Given the description of an element on the screen output the (x, y) to click on. 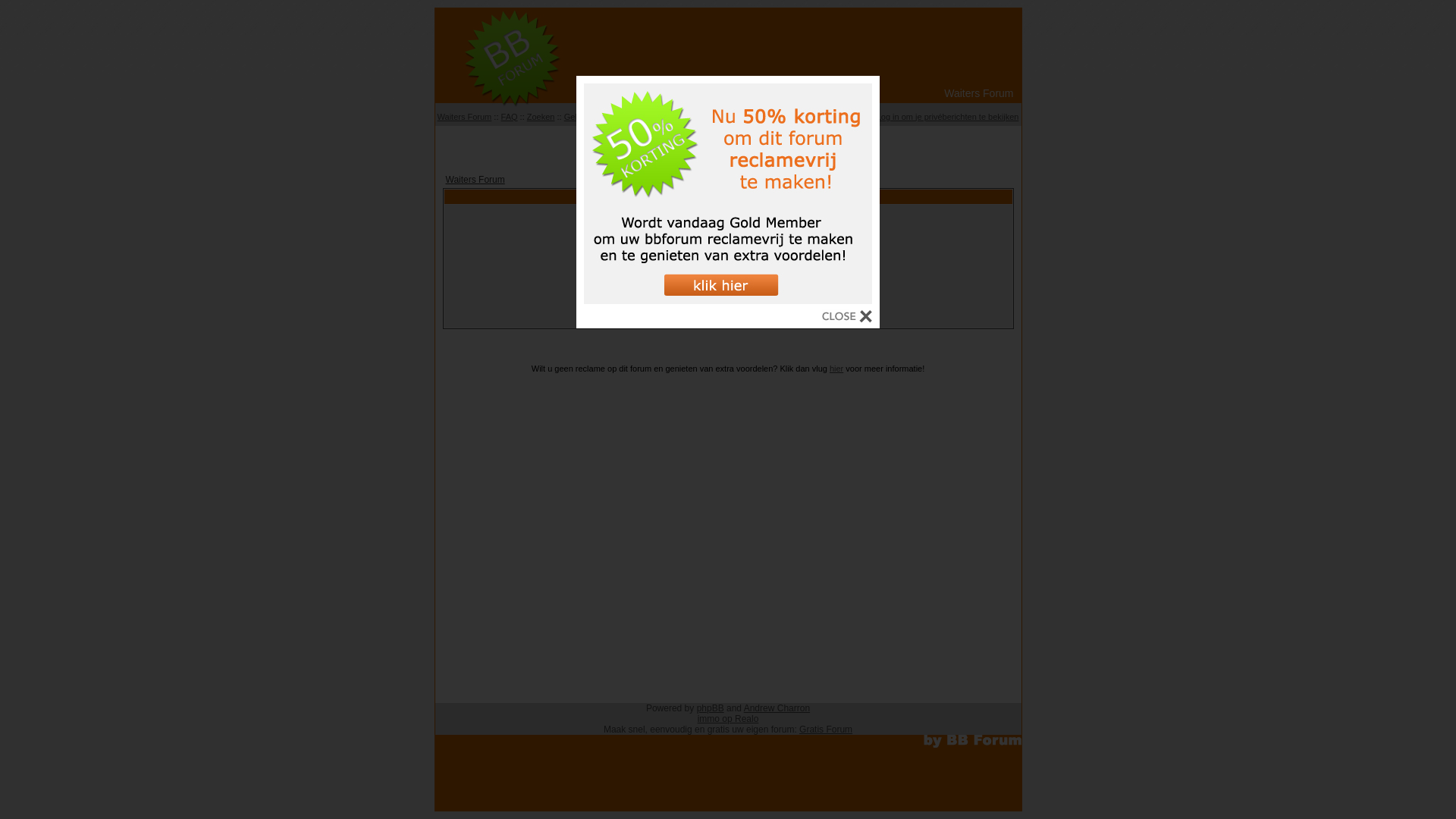
Registreren Element type: text (771, 116)
Inloggen Element type: text (727, 299)
Gebruikerslijst Element type: text (590, 116)
sluiten Element type: hover (847, 318)
Viraal Nieuws Element type: text (727, 144)
Andrew Charron Element type: text (776, 707)
Inloggen Element type: text (818, 116)
Zoeken Element type: text (541, 116)
immo op Realo Element type: text (728, 718)
FAQ Element type: text (509, 116)
hier Element type: text (836, 368)
Profiel Element type: text (854, 116)
Ik ben mijn wachtwoord vergeten Element type: text (728, 316)
klik voor meer informatie Element type: hover (727, 299)
Gebruikersgroepen Element type: text (661, 116)
Waiters Forum Element type: text (475, 179)
phpBB Element type: text (710, 707)
Gratis Forum Element type: text (825, 729)
Waiters Forum Element type: text (464, 116)
